Given the description of an element on the screen output the (x, y) to click on. 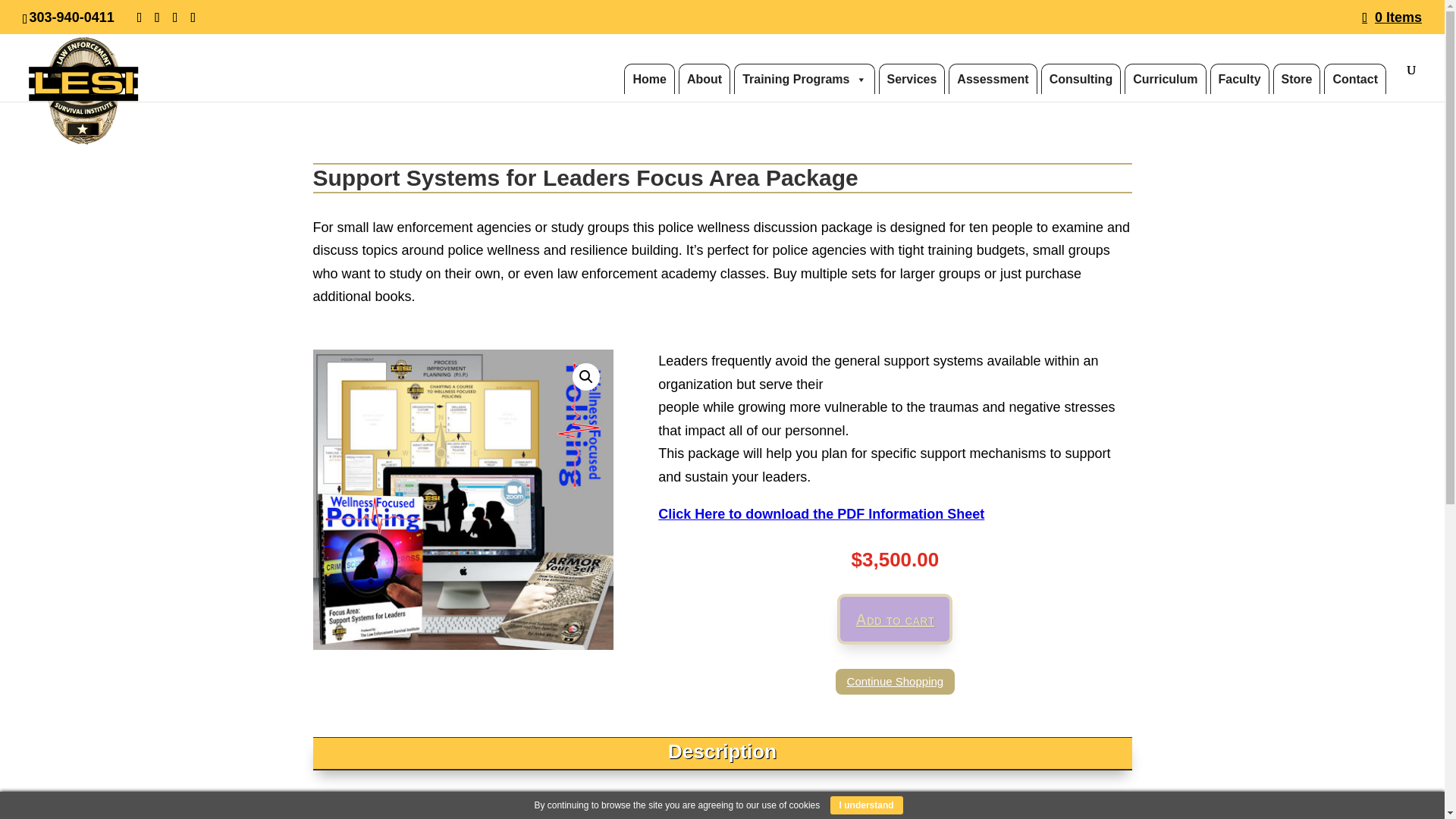
Services (910, 78)
Click Here to download the PDF Information Sheet (821, 513)
Add to cart (894, 618)
Faculty (1239, 78)
WFP-Pack-SupportSystemsForLeaders400.jpg (462, 499)
Assessment (992, 78)
Curriculum (1164, 78)
Home (649, 78)
Continue Shopping (895, 681)
About (704, 78)
Training Programs (804, 78)
Contact (1354, 78)
0 Items (1391, 16)
Consulting (1081, 78)
Store (1296, 78)
